Given the description of an element on the screen output the (x, y) to click on. 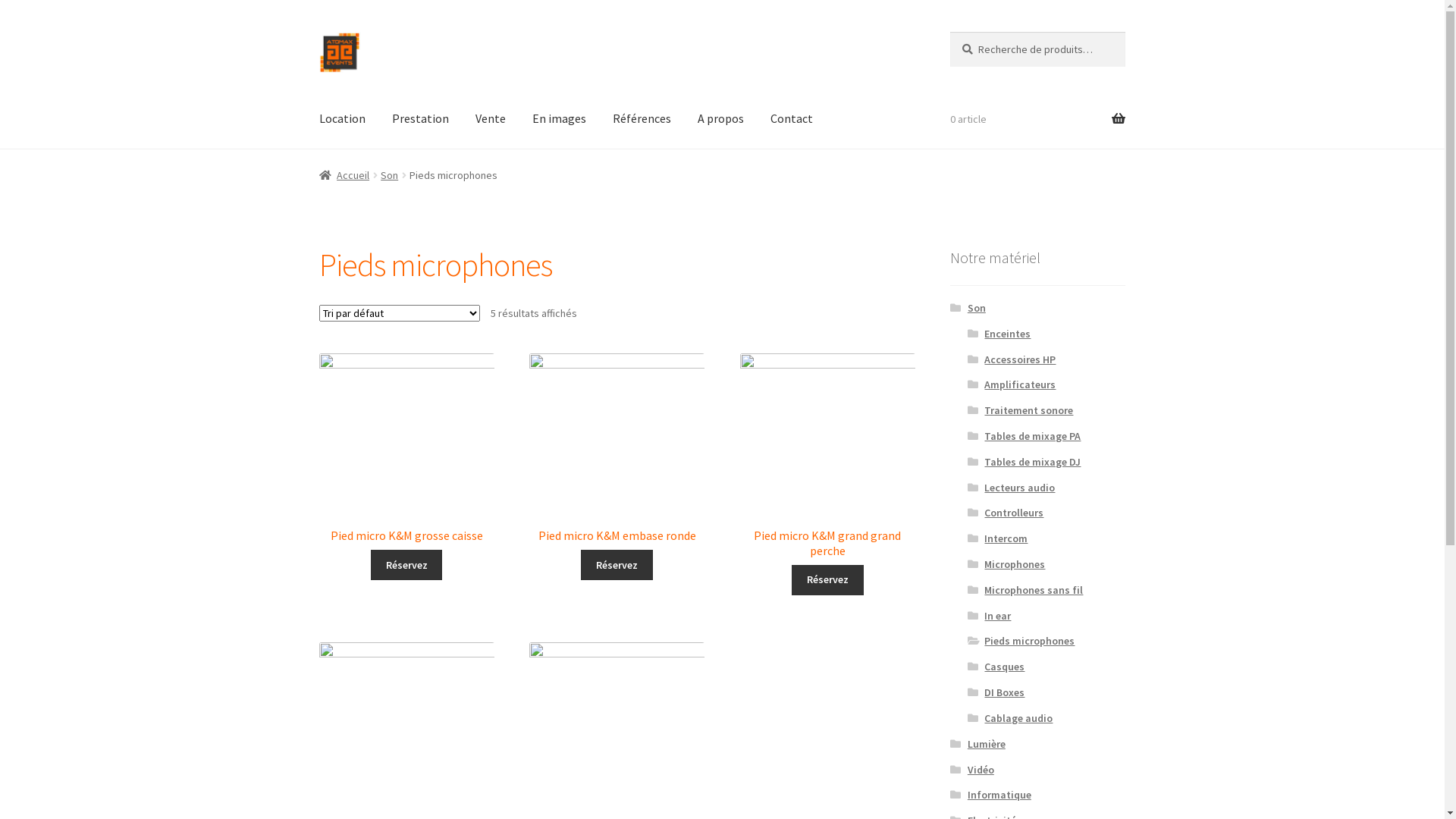
Intercom Element type: text (1005, 538)
0 article Element type: text (1037, 118)
Cablage audio Element type: text (1018, 717)
Vente Element type: text (490, 118)
Pieds microphones Element type: text (1029, 640)
Tables de mixage PA Element type: text (1032, 435)
In ear Element type: text (997, 615)
A propos Element type: text (720, 118)
En images Element type: text (559, 118)
Pied micro K&M embase ronde Element type: text (616, 448)
Controlleurs Element type: text (1013, 512)
Tables de mixage DJ Element type: text (1032, 461)
Traitement sonore Element type: text (1028, 410)
Son Element type: text (389, 175)
Microphones sans fil Element type: text (1033, 589)
Location Element type: text (342, 118)
Casques Element type: text (1004, 666)
Accessoires HP Element type: text (1019, 359)
Contact Element type: text (791, 118)
Prestation Element type: text (420, 118)
Son Element type: text (976, 307)
Lecteurs audio Element type: text (1019, 487)
Informatique Element type: text (999, 794)
Pied micro K&M grosse caisse Element type: text (406, 448)
Recherche Element type: text (949, 31)
DI Boxes Element type: text (1004, 692)
Pied micro K&M grand grand perche Element type: text (827, 455)
Microphones Element type: text (1014, 564)
Enceintes Element type: text (1007, 333)
Accueil Element type: text (344, 175)
Amplificateurs Element type: text (1019, 384)
